Given the description of an element on the screen output the (x, y) to click on. 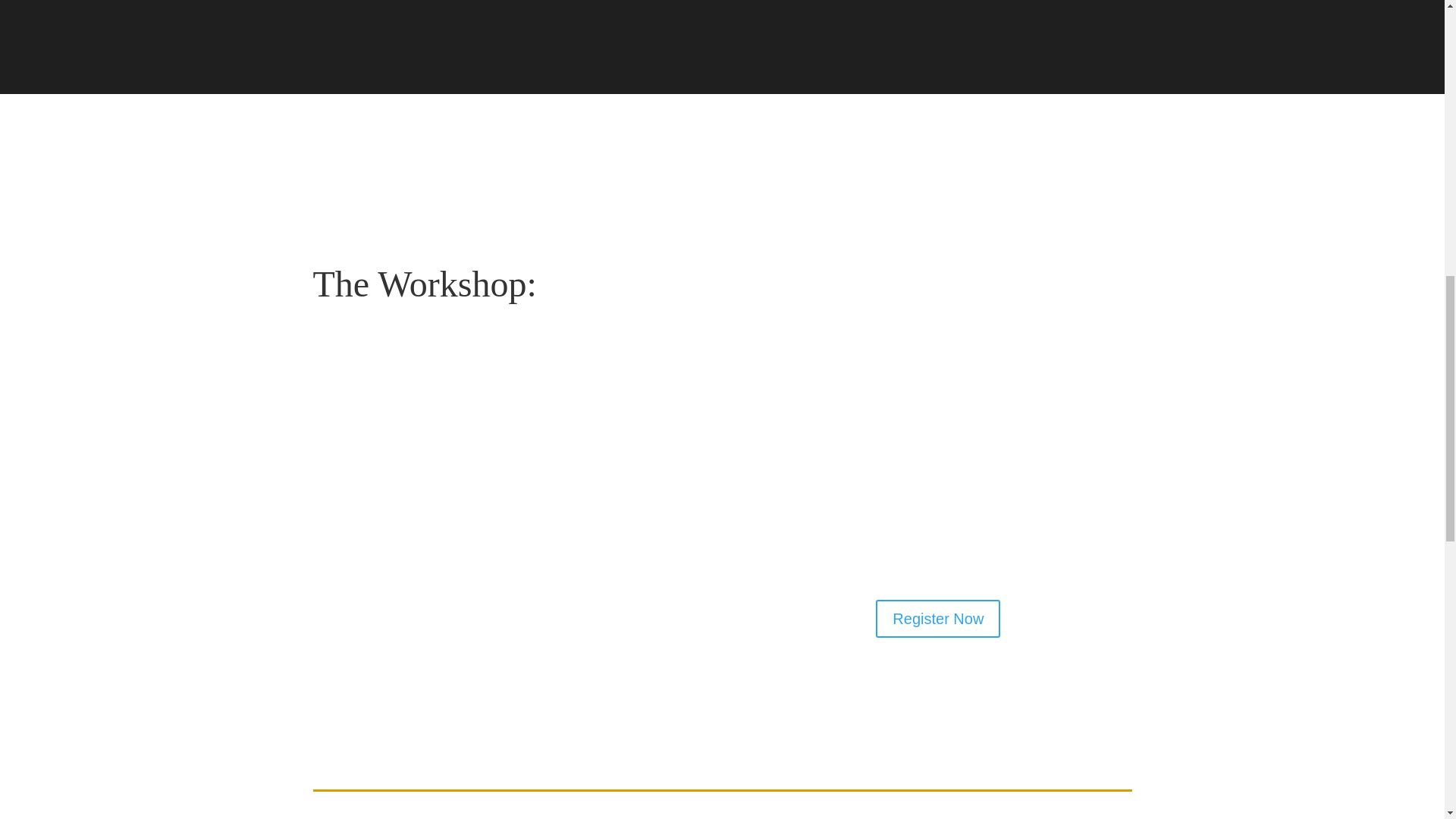
Register Now (938, 618)
